Given the description of an element on the screen output the (x, y) to click on. 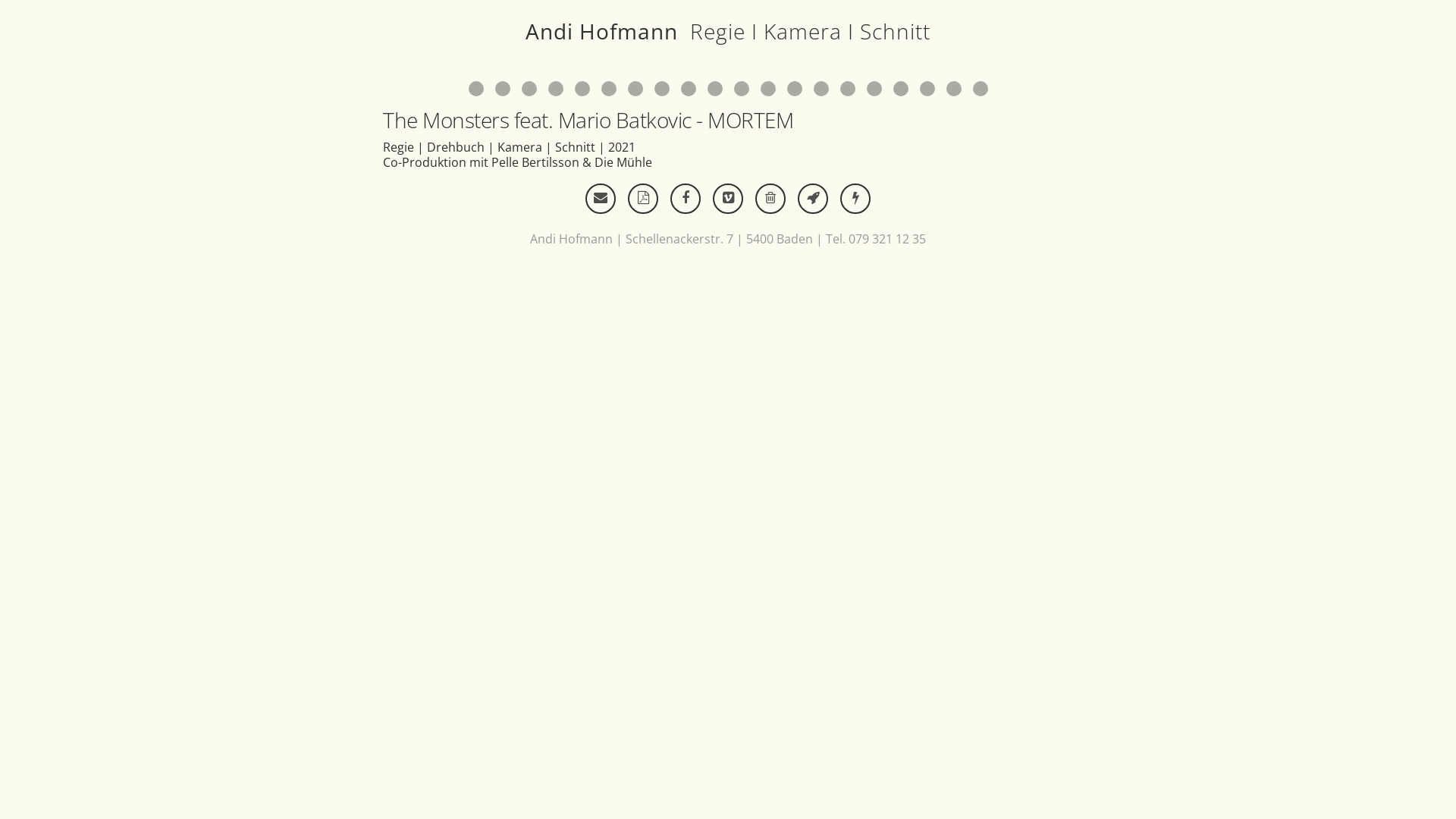
film@andihofmann.ch Element type: hover (600, 198)
Vimeo Element type: hover (727, 198)
facebook Element type: hover (685, 198)
CV (pdf) Element type: hover (642, 198)
kingoftrash.ch Element type: hover (770, 198)
performance.andihofmann.ch Element type: hover (812, 198)
supercollider.ch Element type: hover (855, 198)
